Given the description of an element on the screen output the (x, y) to click on. 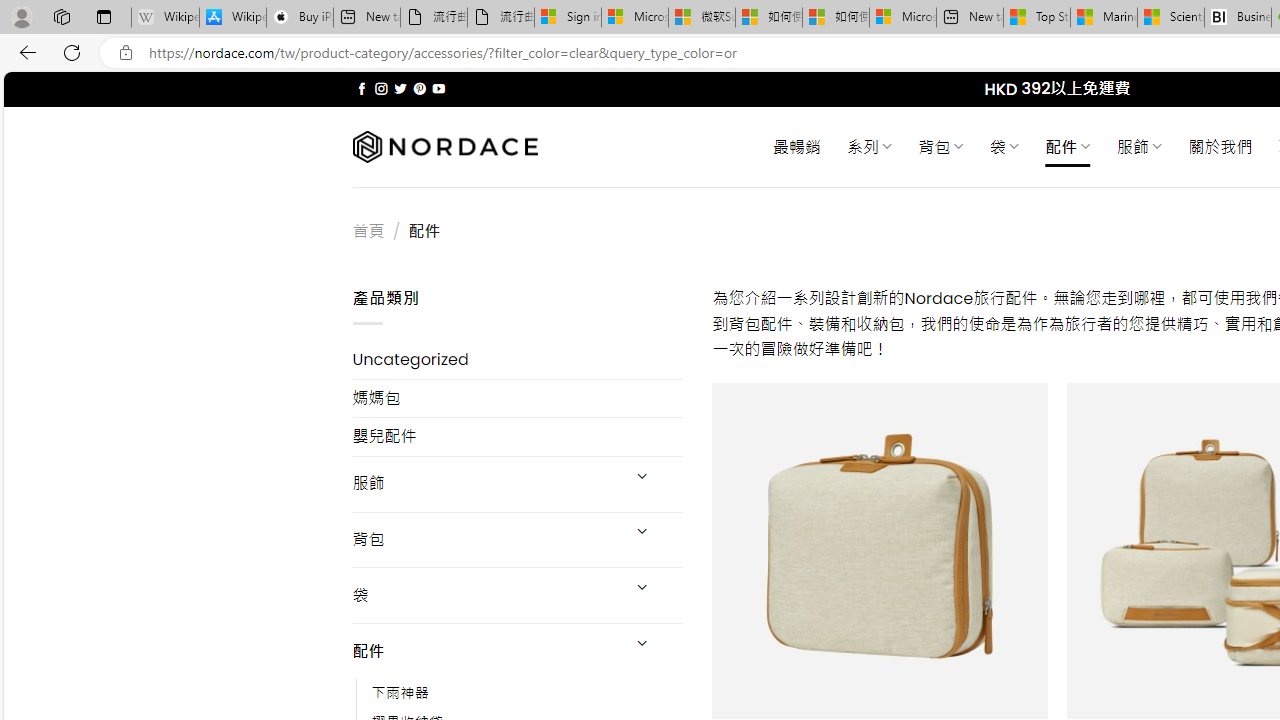
Uncategorized (517, 359)
Follow on Instagram (381, 88)
Follow on Facebook (361, 88)
